Given the description of an element on the screen output the (x, y) to click on. 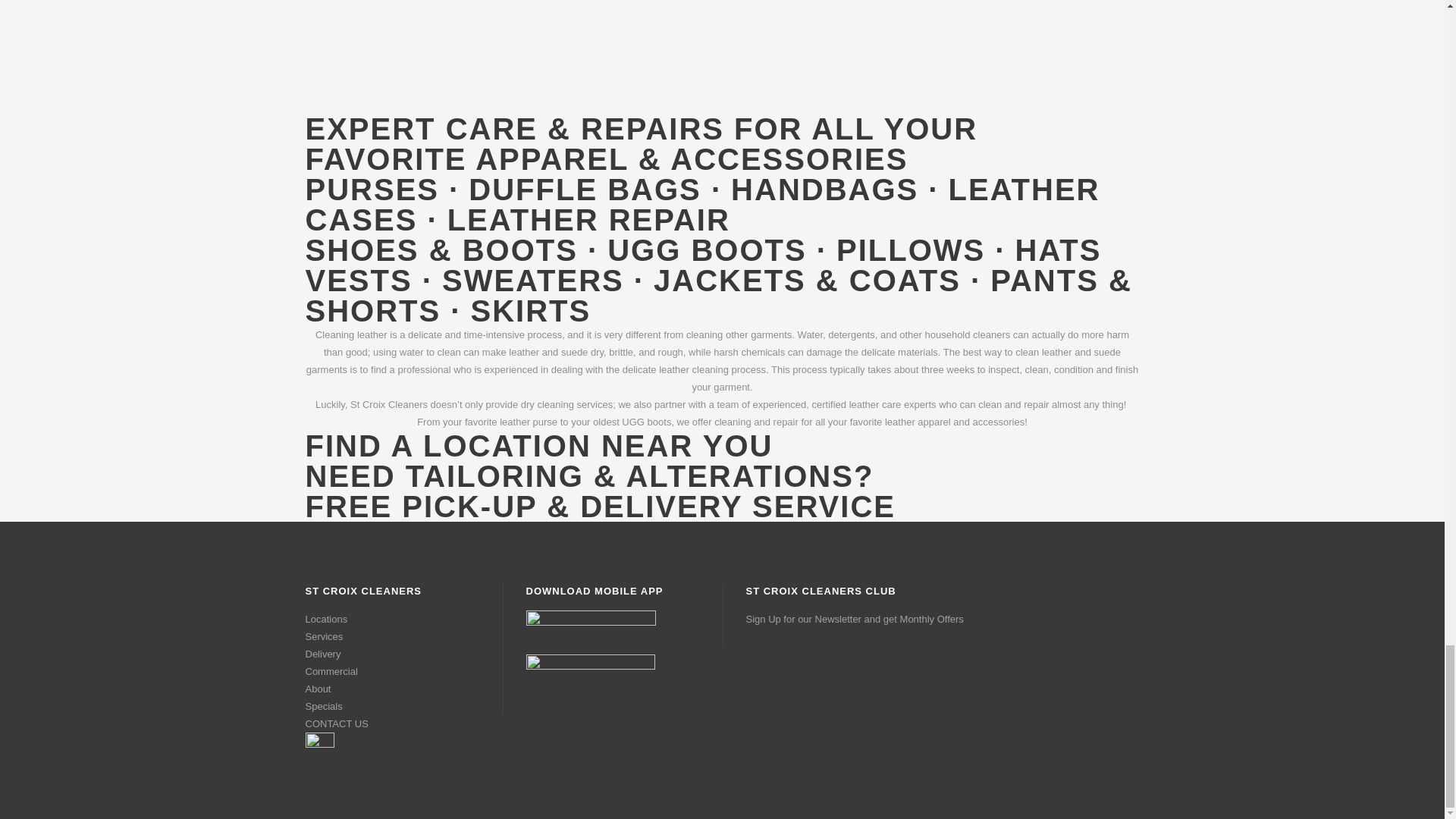
About (317, 688)
CONTACT US (336, 723)
Locations (325, 618)
Commercial (330, 671)
Delivery (322, 654)
Specials (323, 706)
FIND A LOCATION NEAR YOU (538, 445)
Services (323, 636)
